Given the description of an element on the screen output the (x, y) to click on. 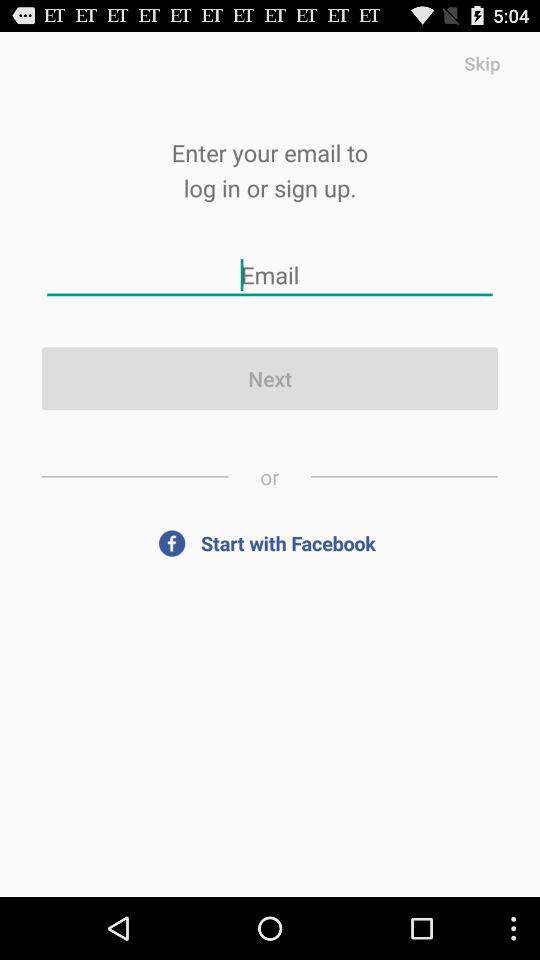
flip until the skip icon (482, 62)
